Given the description of an element on the screen output the (x, y) to click on. 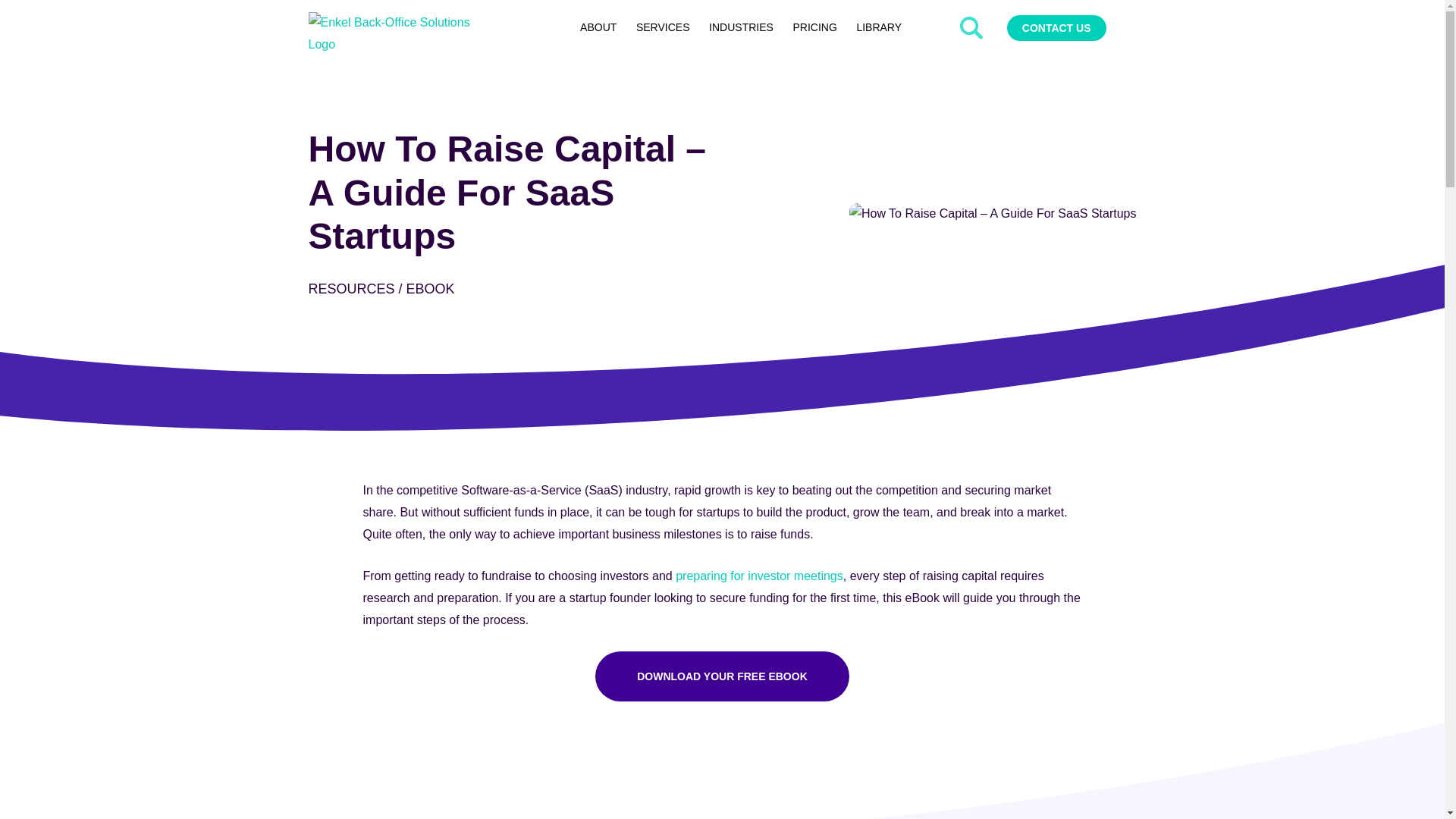
ABOUT (598, 27)
LIBRARY (879, 27)
INDUSTRIES (740, 27)
RESOURCES (350, 288)
PRICING (815, 27)
DOWNLOAD YOUR FREE EBOOK (721, 676)
CONTACT US (1056, 27)
Services (662, 27)
Industries (740, 27)
SERVICES (662, 27)
